Given the description of an element on the screen output the (x, y) to click on. 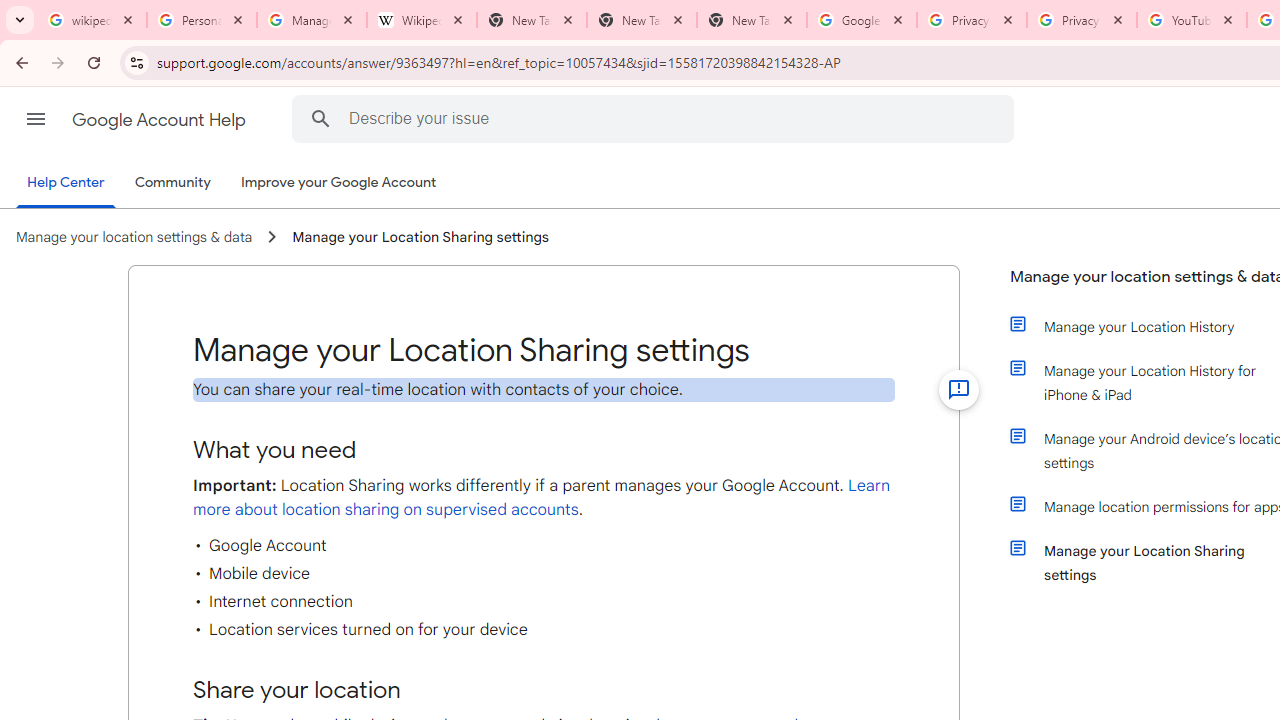
Google Drive: Sign-in (861, 20)
Describe your issue (655, 118)
